Given the description of an element on the screen output the (x, y) to click on. 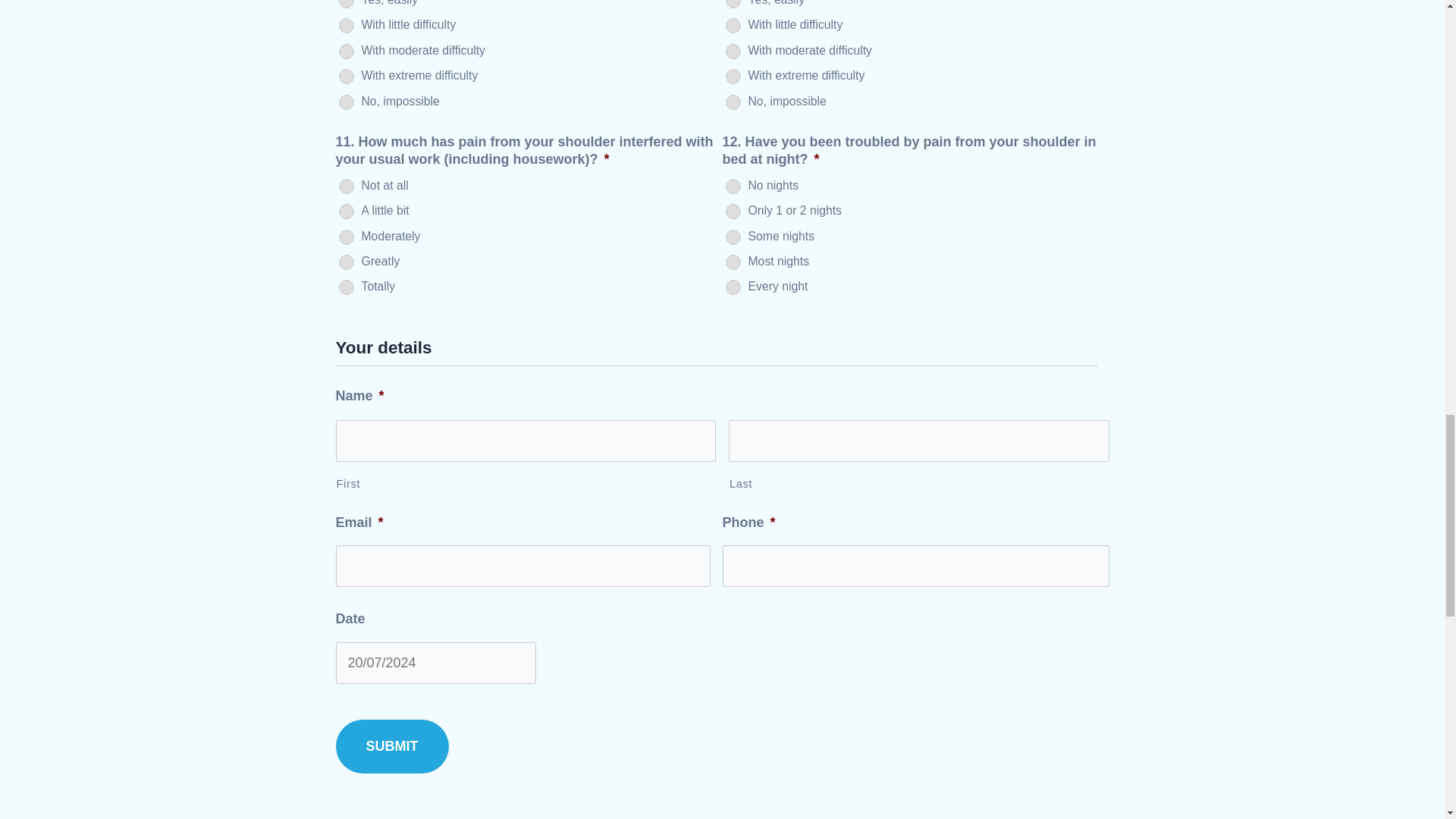
Submit (391, 746)
